Given the description of an element on the screen output the (x, y) to click on. 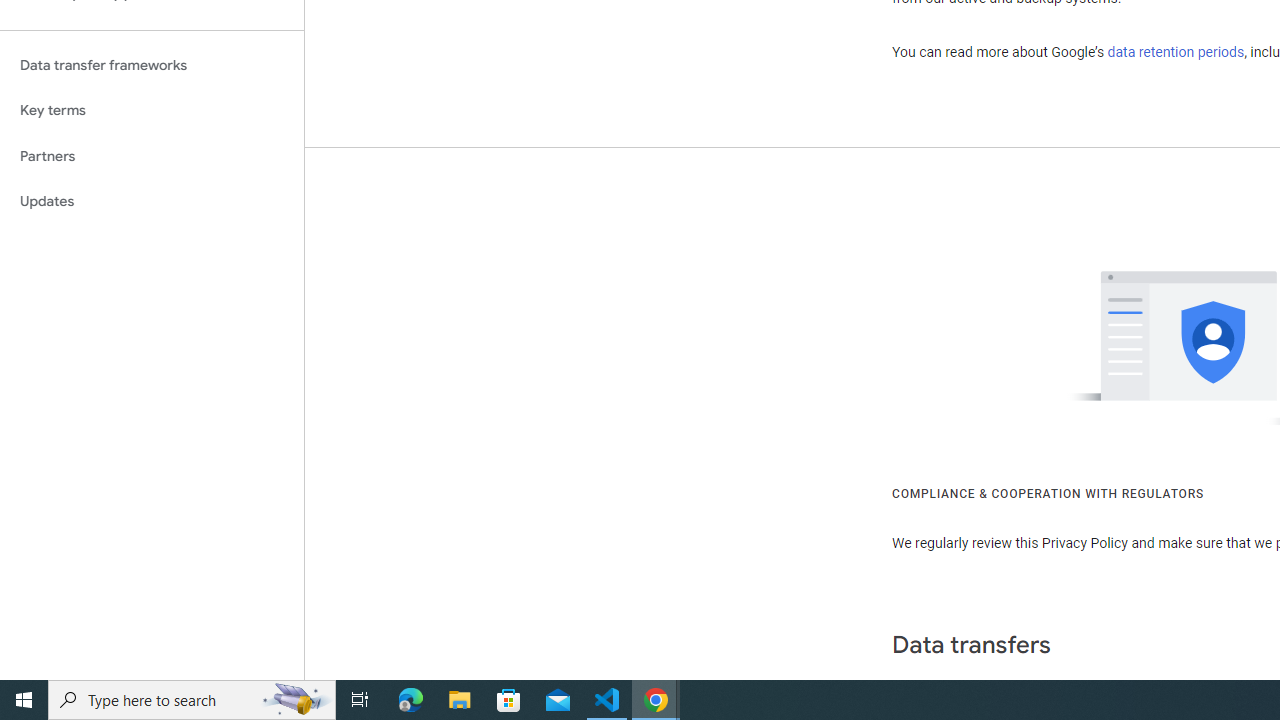
Key terms (152, 110)
data retention periods (1176, 52)
Data transfer frameworks (152, 65)
Updates (152, 201)
Partners (152, 156)
